Given the description of an element on the screen output the (x, y) to click on. 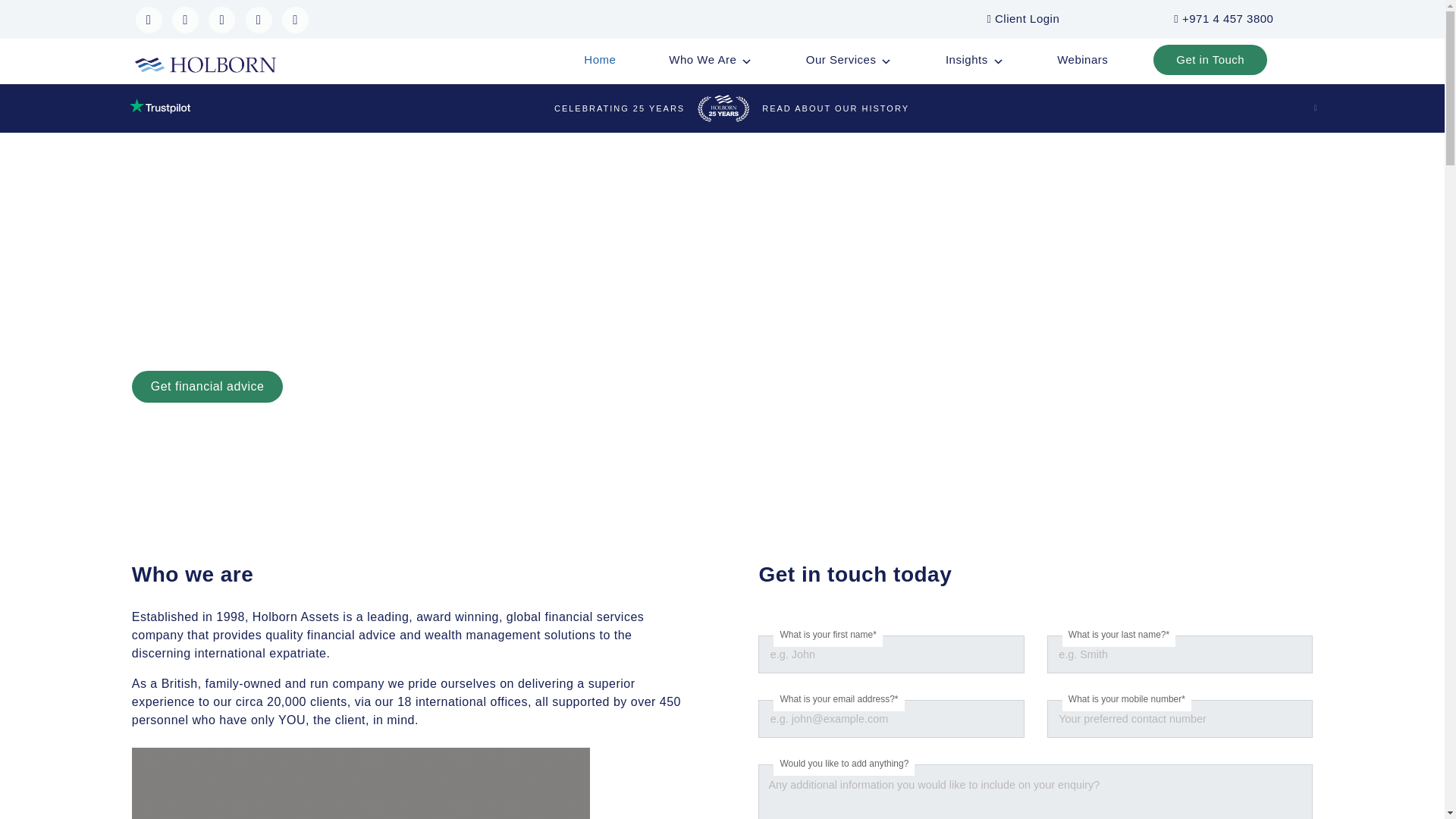
Insights (974, 60)
Client Login (1023, 18)
Our Services (848, 60)
Home (599, 60)
Who We Are (710, 60)
